Given the description of an element on the screen output the (x, y) to click on. 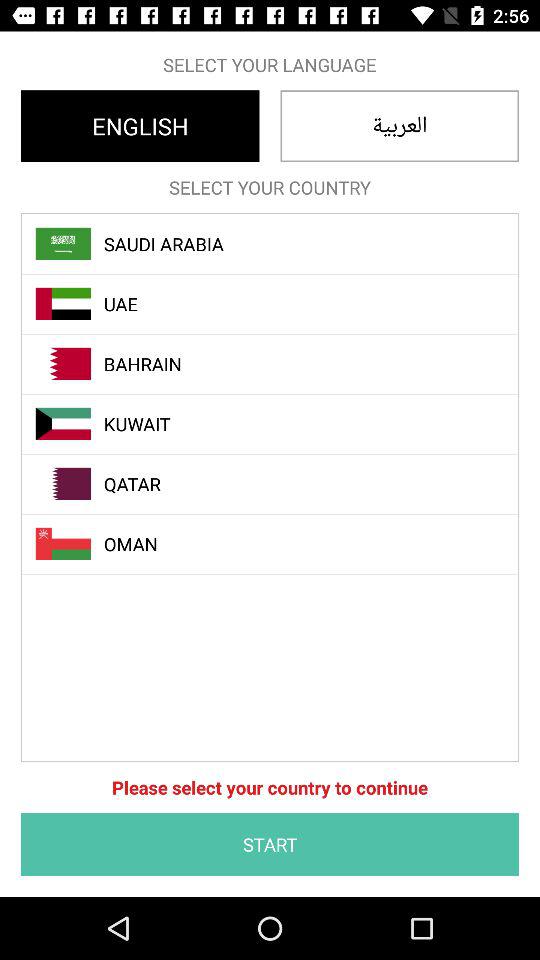
jump to english (140, 126)
